Given the description of an element on the screen output the (x, y) to click on. 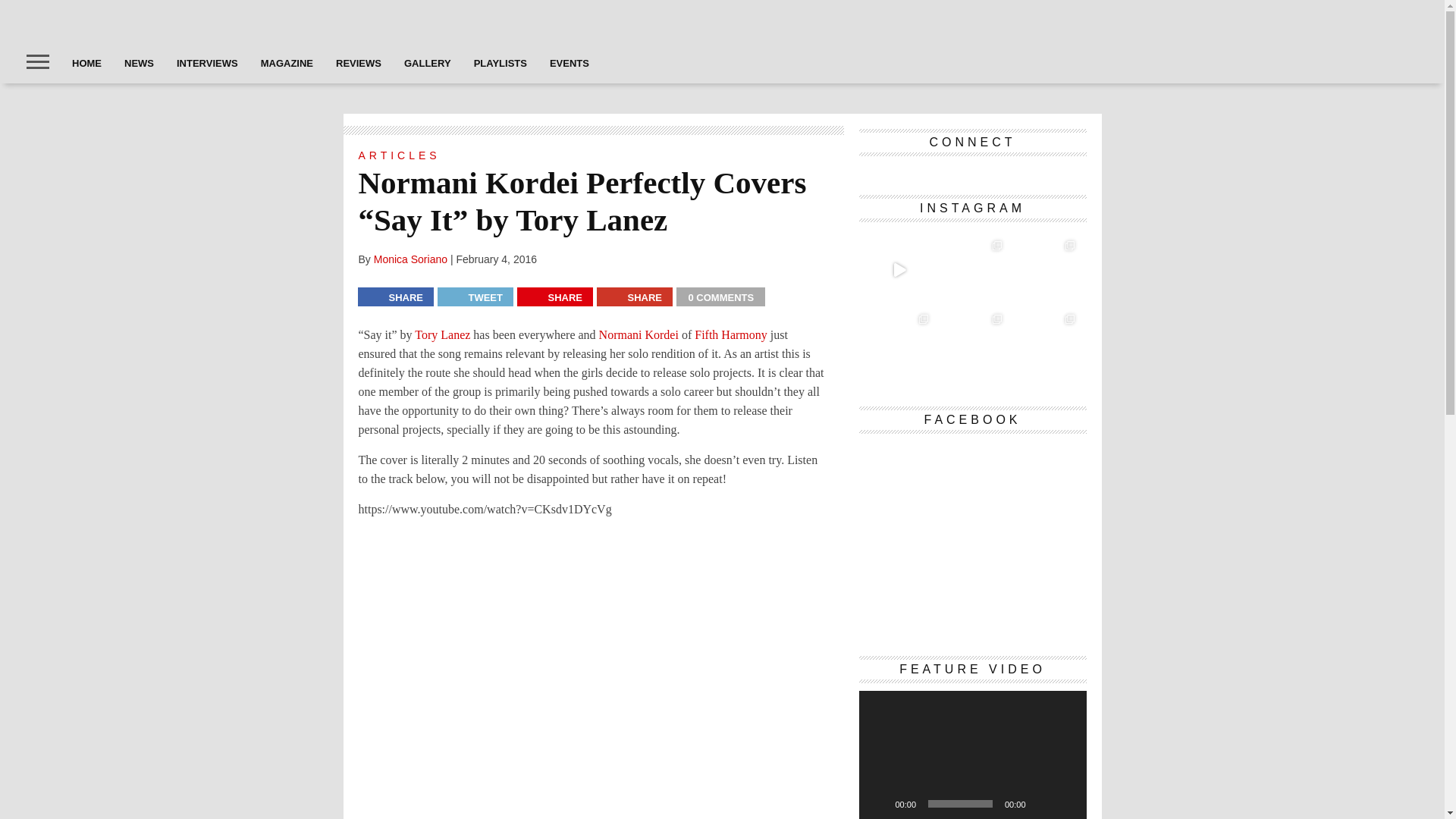
Play (877, 803)
Mute (1041, 803)
HOME (87, 62)
Fullscreen (1066, 803)
Posts by Monica Soriano (410, 259)
NEWS (139, 62)
